Given the description of an element on the screen output the (x, y) to click on. 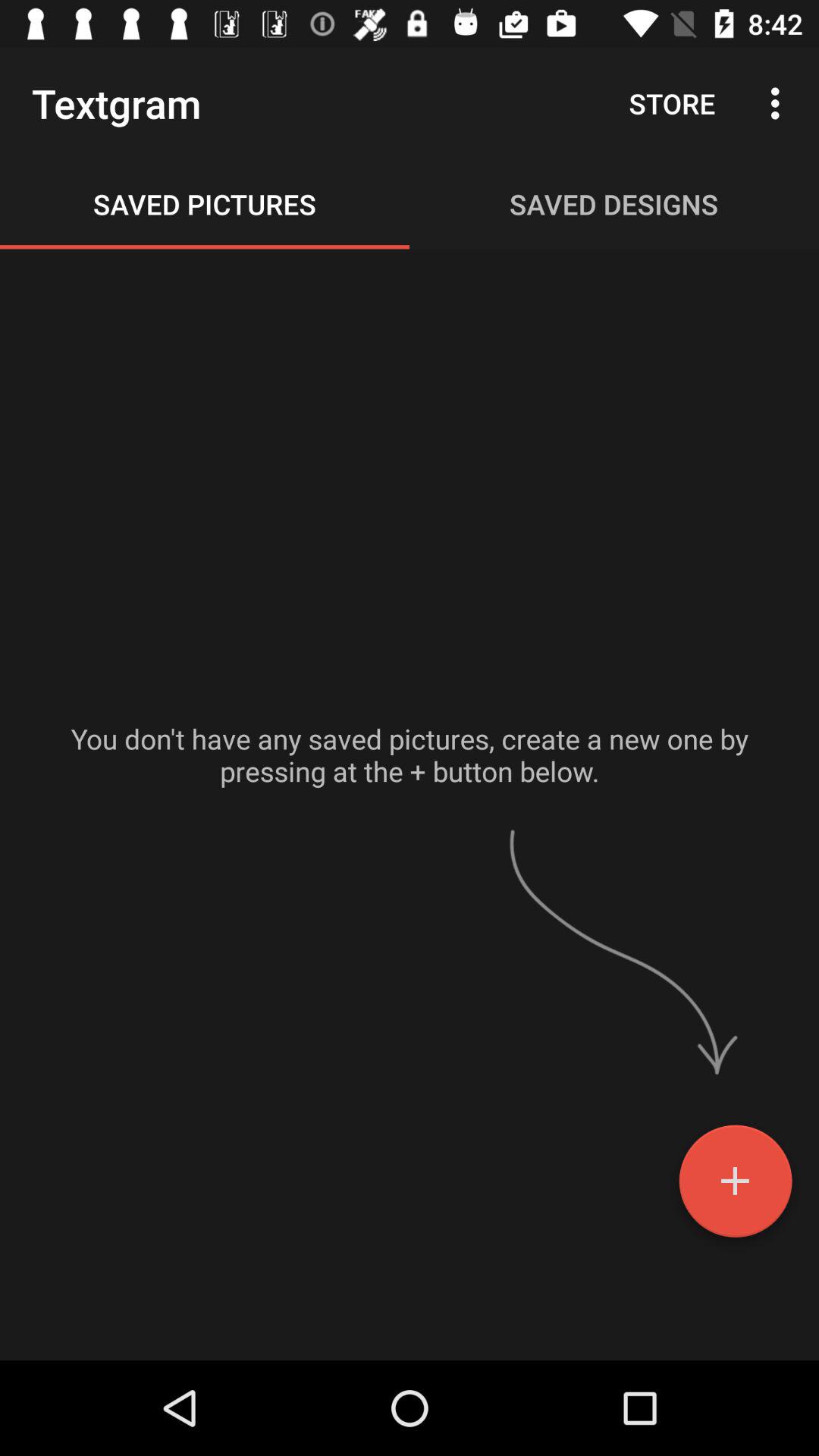
choose the item to the right of the textgram icon (672, 103)
